Given the description of an element on the screen output the (x, y) to click on. 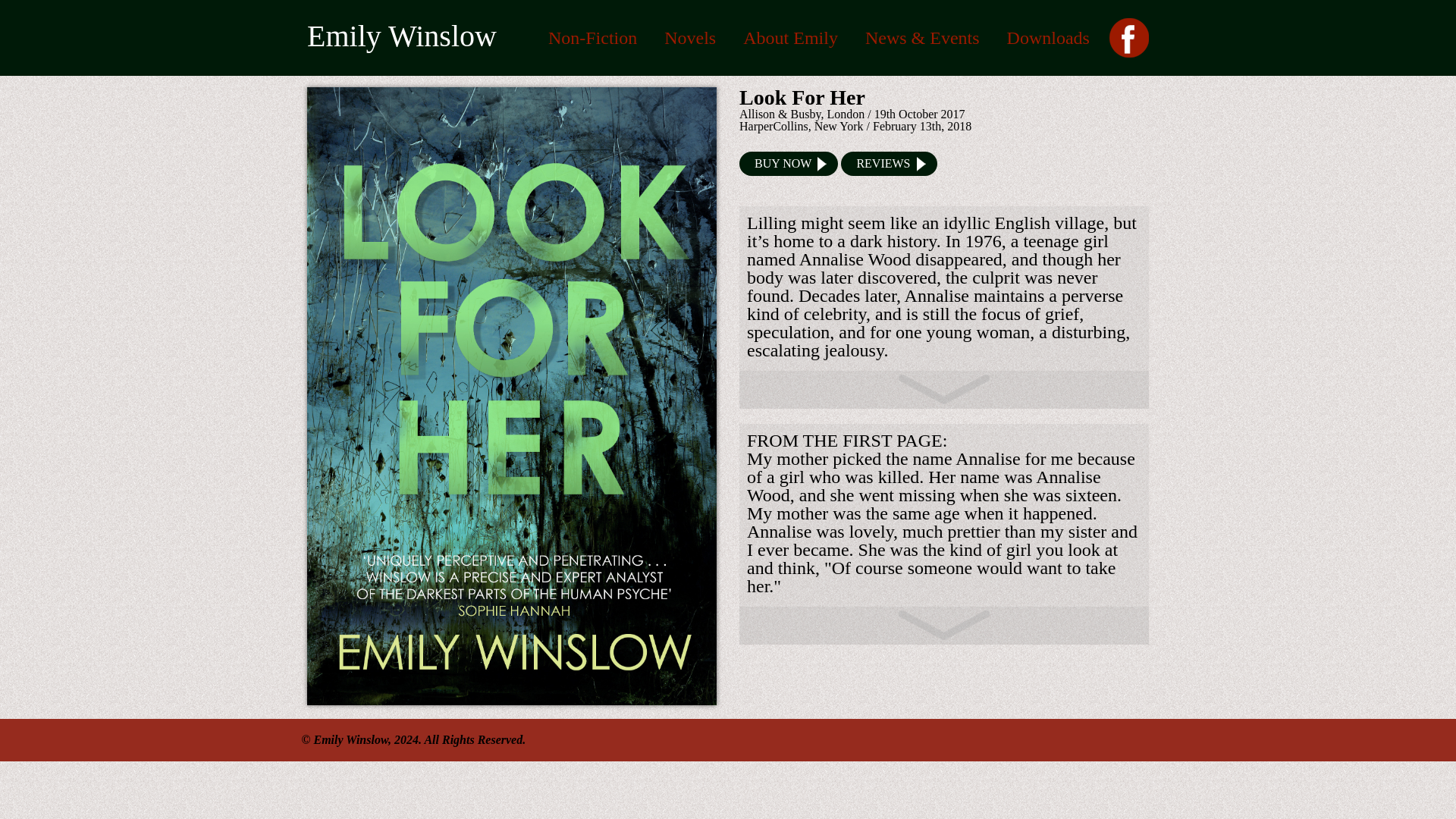
Novels (689, 37)
Non-Fiction (592, 37)
REVIEWS (888, 163)
About Emily (790, 37)
Downloads (1048, 37)
Emily Winslow (401, 36)
BUY NOW (788, 163)
